Given the description of an element on the screen output the (x, y) to click on. 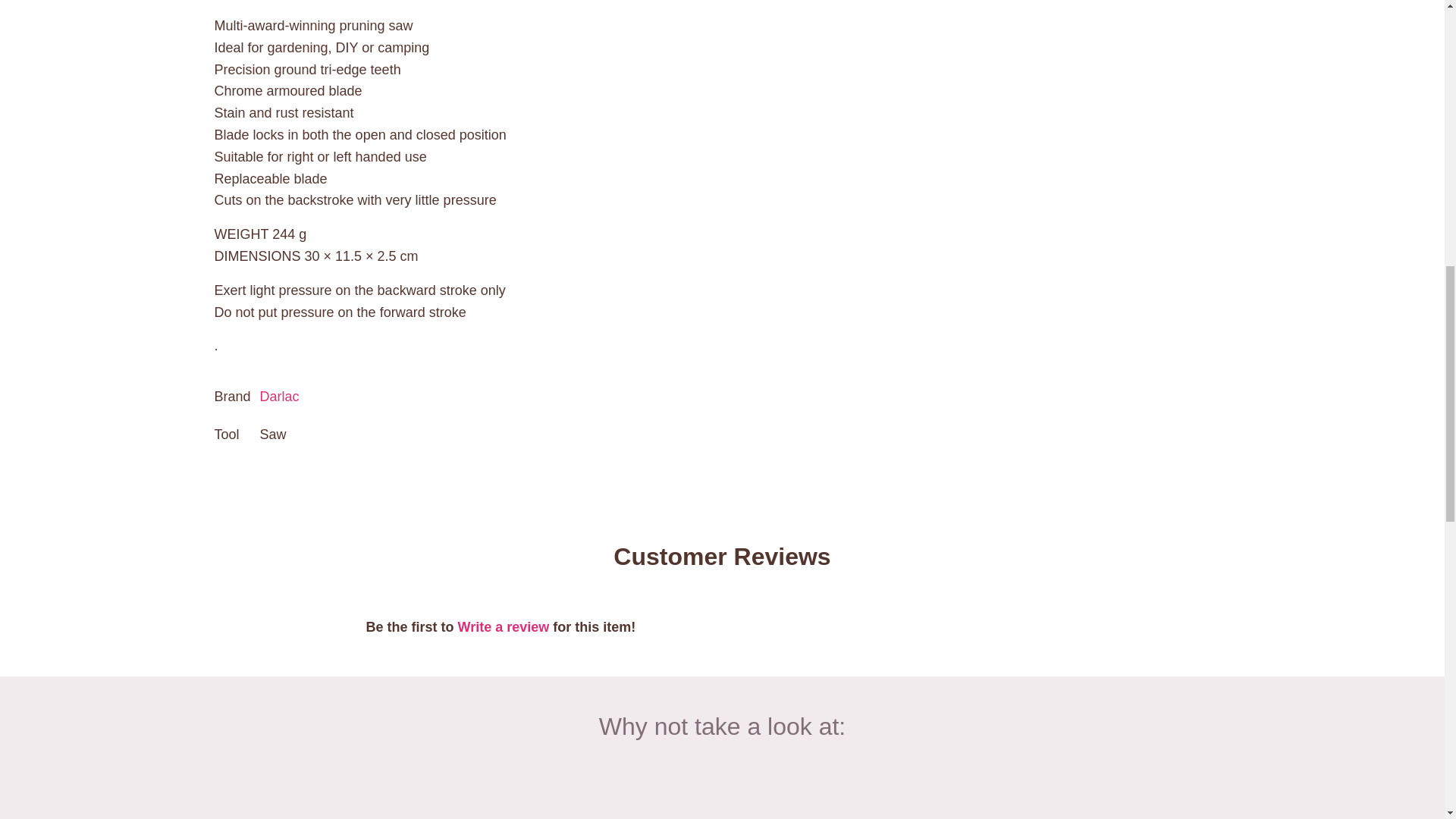
Darlac (279, 396)
